Given the description of an element on the screen output the (x, y) to click on. 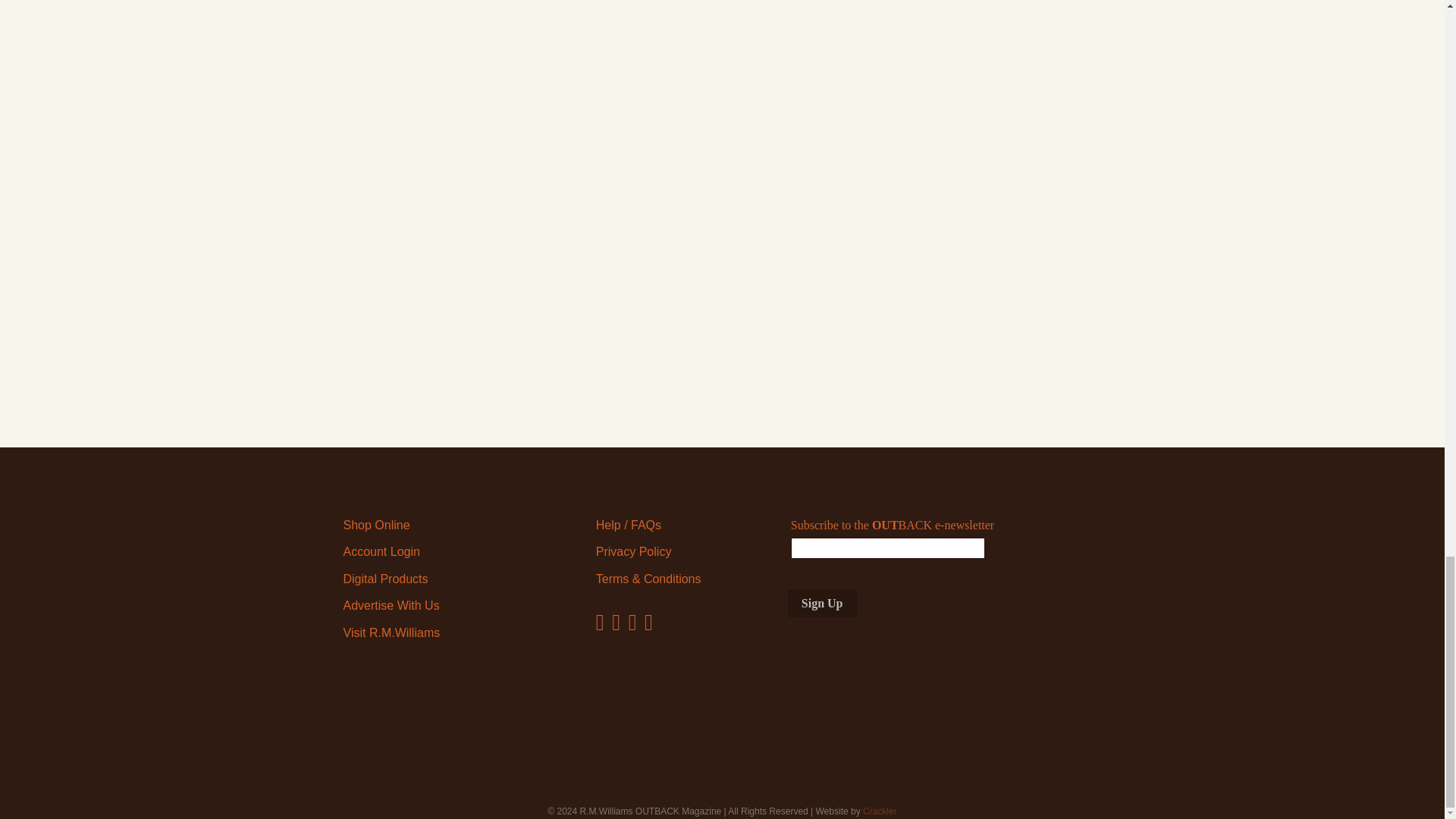
Subscribe to the OUTBACK e-newsletter (887, 547)
